Given the description of an element on the screen output the (x, y) to click on. 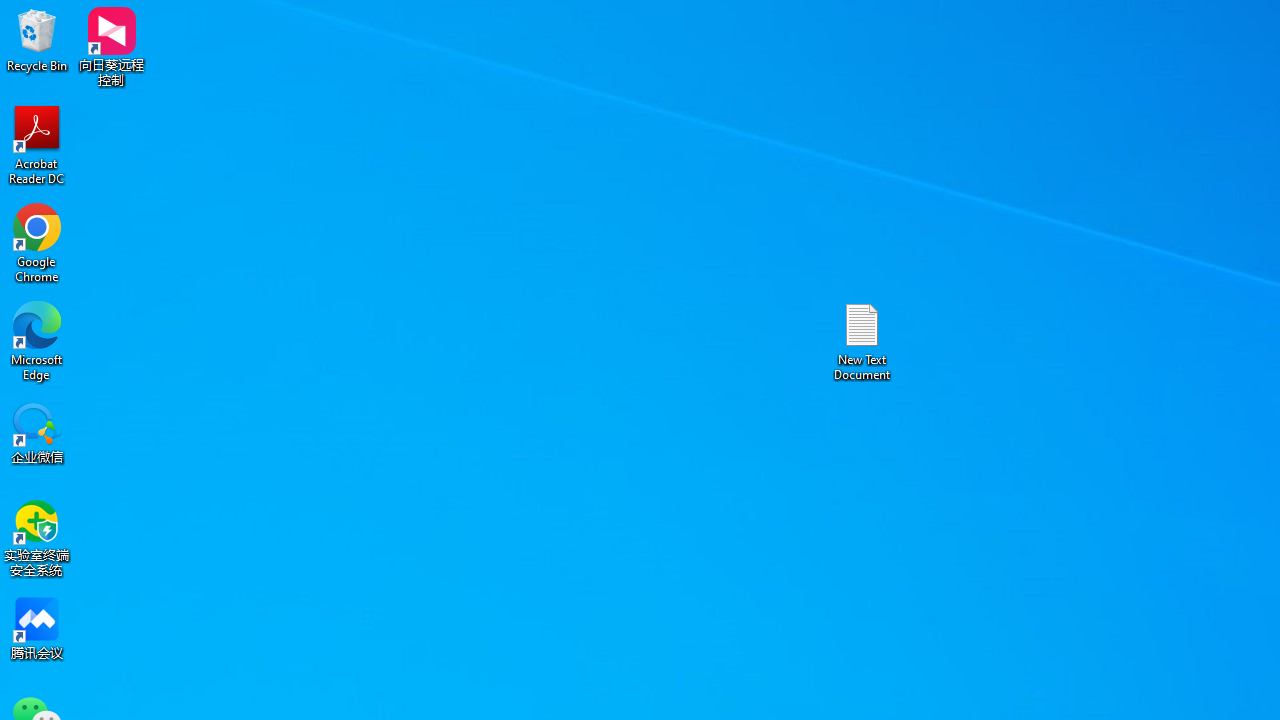
Blender 4.1 (287, 313)
Visual Studio Code (57, 591)
CloudCompare (287, 180)
Typora (287, 446)
SJTUvpn (172, 446)
Visual Studio 2022 (57, 457)
UGround_paper.pdf (1206, 47)
